Given the description of an element on the screen output the (x, y) to click on. 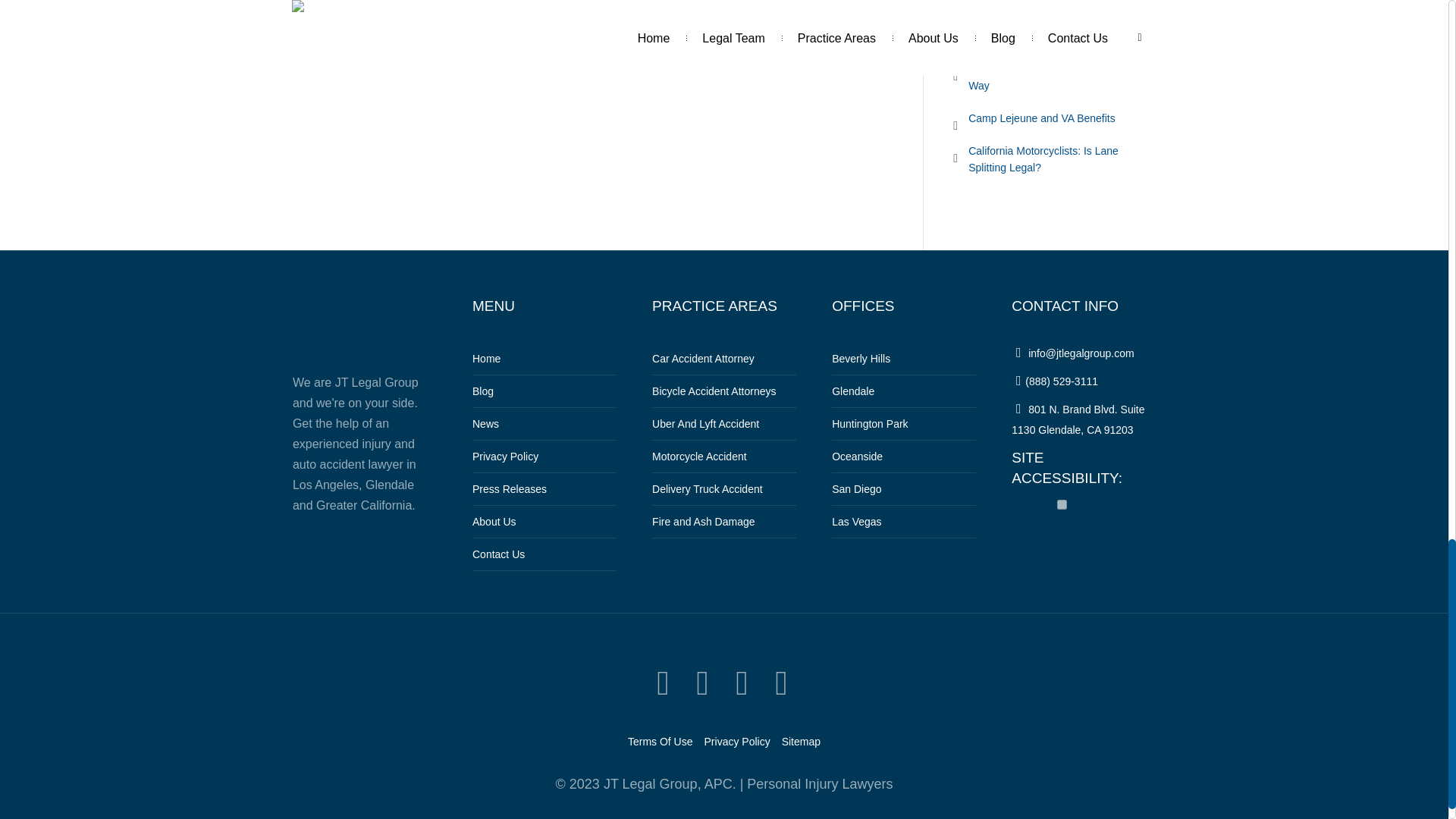
Skype (780, 683)
Facebook (702, 683)
linkedin (741, 683)
Twitter (662, 683)
on (1062, 504)
